Given the description of an element on the screen output the (x, y) to click on. 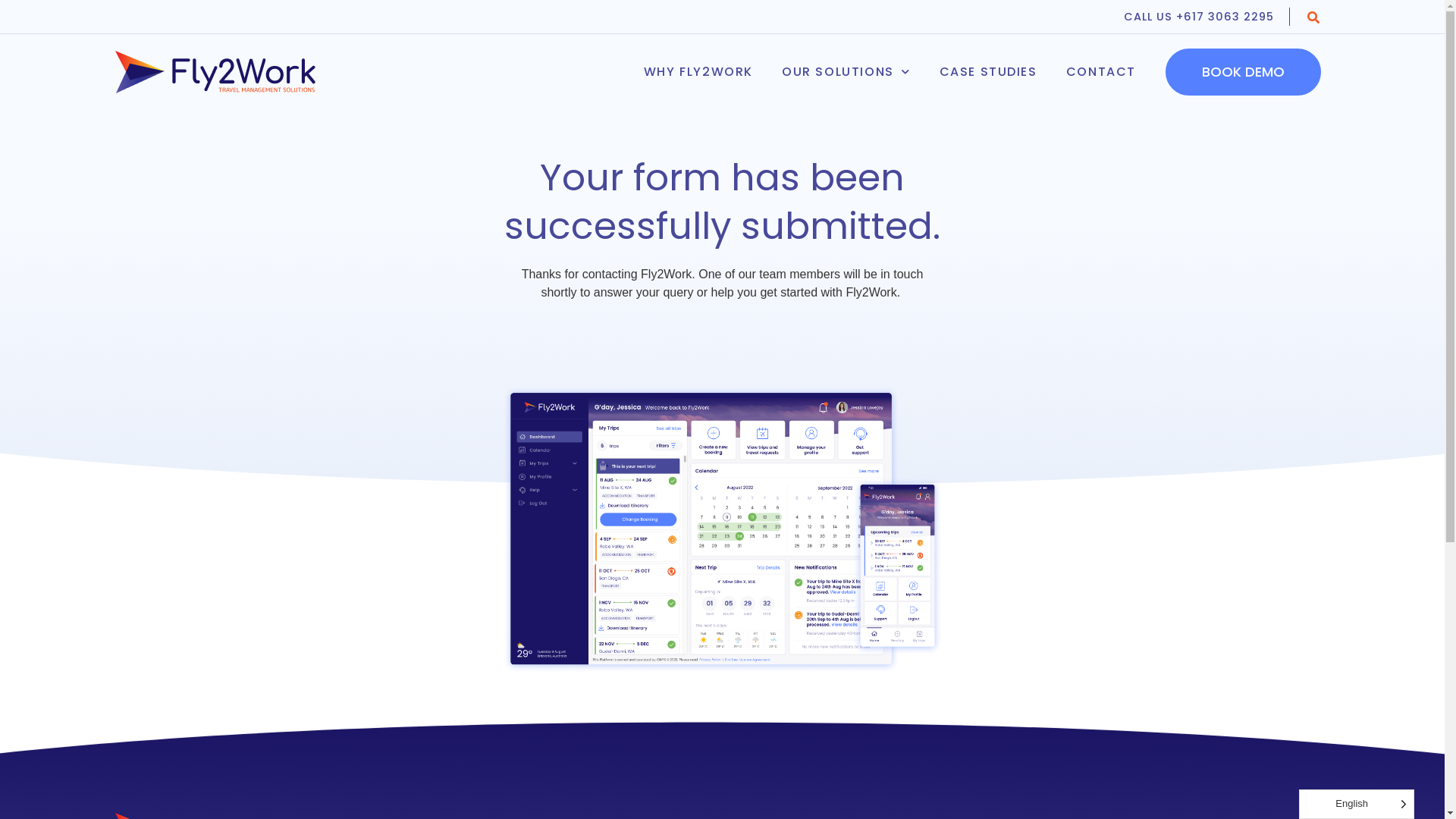
BOOK DEMO Element type: text (1243, 71)
CALL US +617 3063 2295 Element type: text (1206, 16)
WHY FLY2WORK Element type: text (698, 71)
CASE STUDIES Element type: text (988, 71)
OUR SOLUTIONS Element type: text (845, 71)
CONTACT Element type: text (1100, 71)
